Given the description of an element on the screen output the (x, y) to click on. 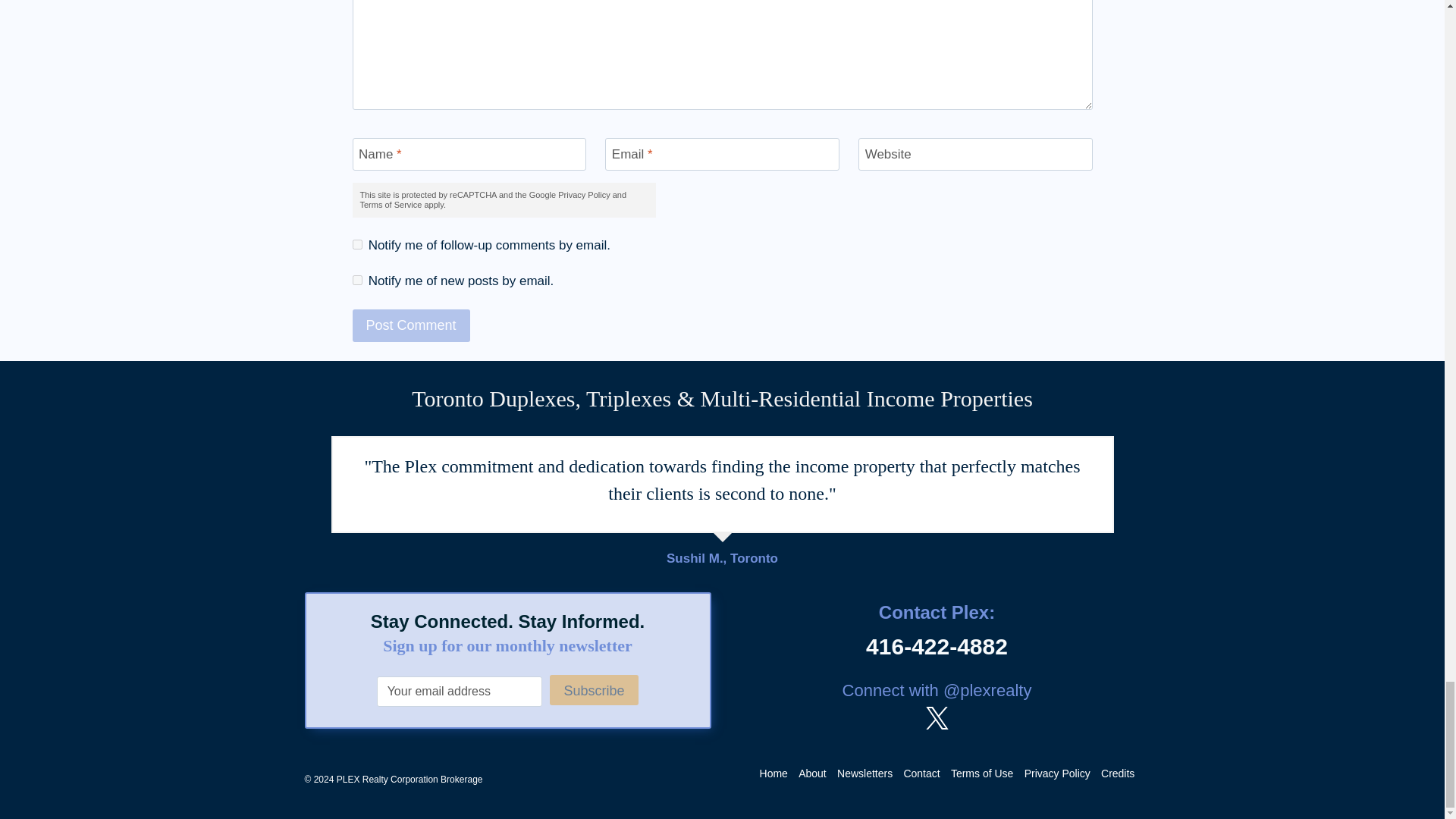
Subscribe (593, 689)
Post Comment (410, 325)
subscribe (356, 244)
subscribe (356, 280)
